Given the description of an element on the screen output the (x, y) to click on. 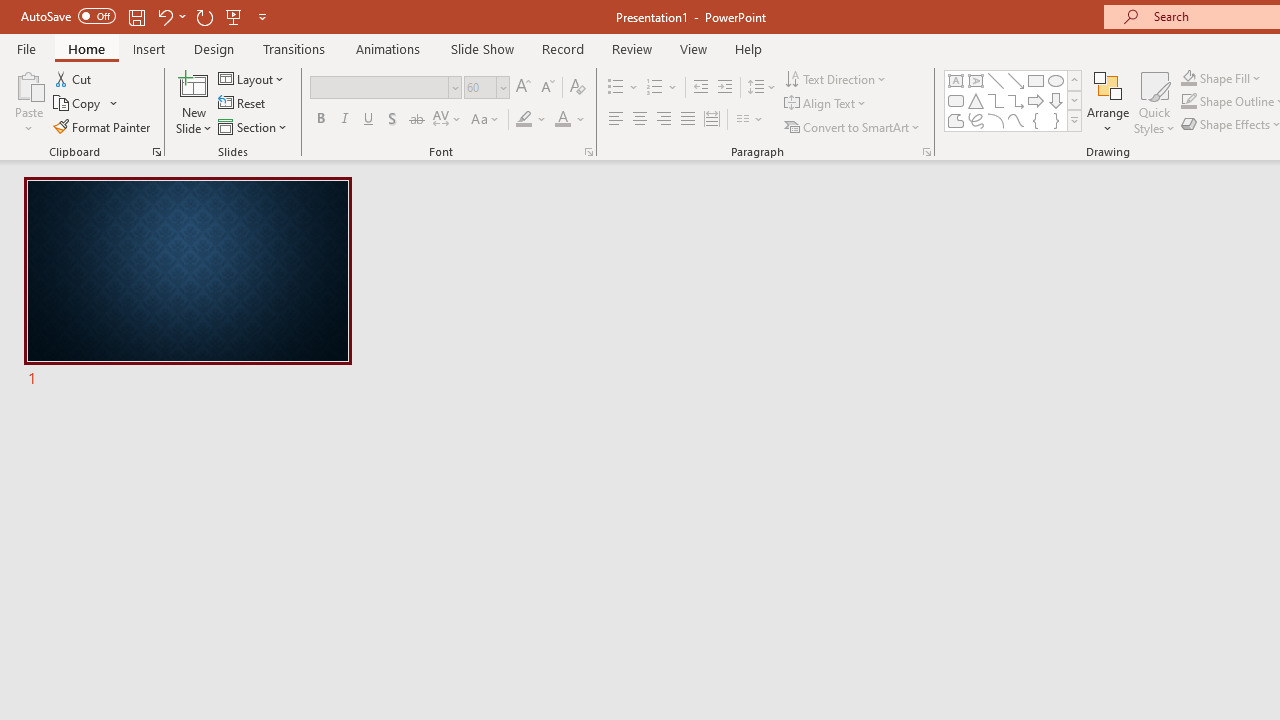
Paragraph... (926, 151)
Font Color Red (562, 119)
Isosceles Triangle (975, 100)
Rectangle (1035, 80)
Columns (750, 119)
Format Painter (103, 126)
Quick Styles (1154, 102)
Line (995, 80)
Left Brace (1035, 120)
Shapes (1074, 120)
Freeform: Scribble (975, 120)
Font... (588, 151)
Reset (243, 103)
